Given the description of an element on the screen output the (x, y) to click on. 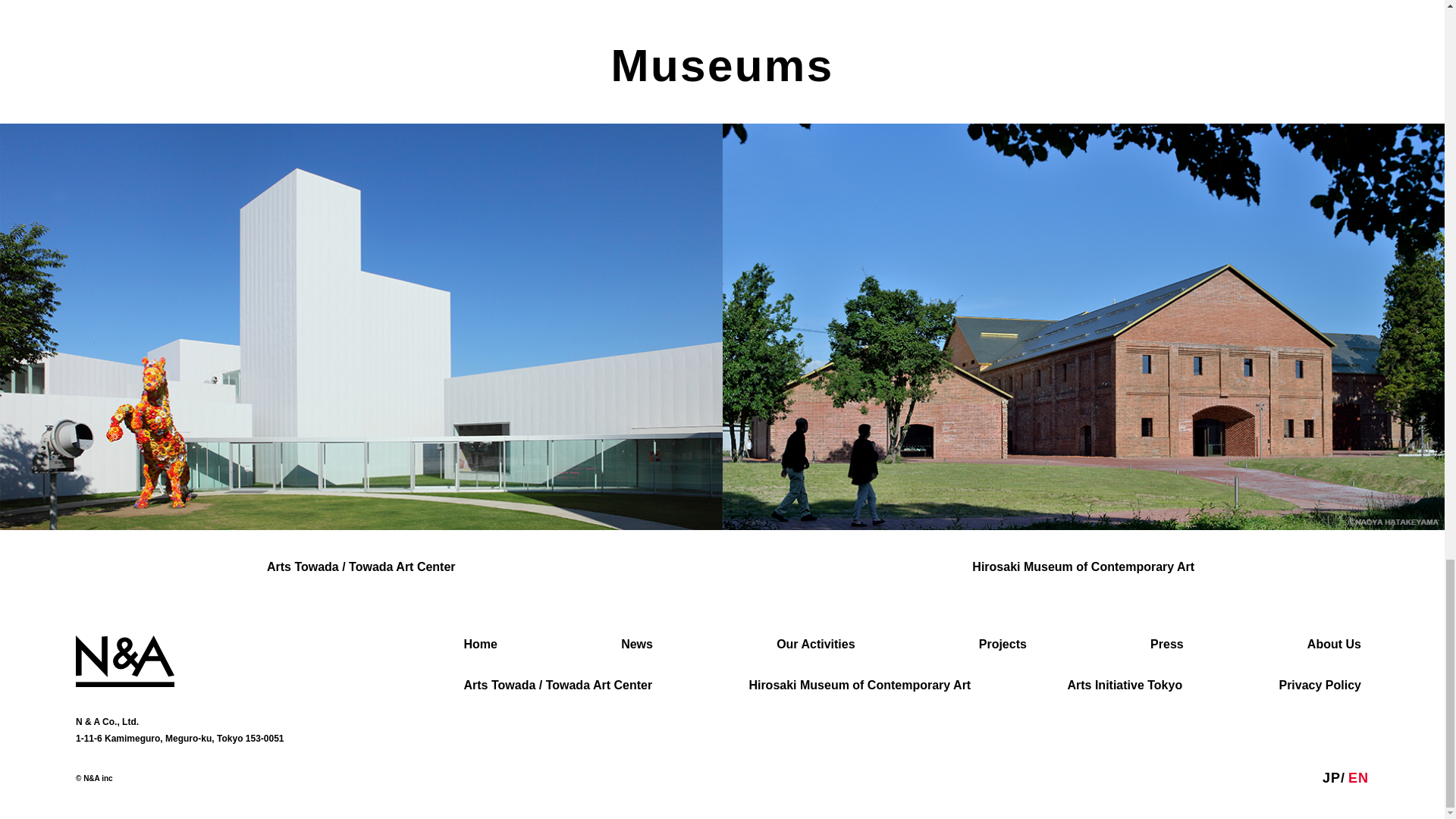
Japanese (1331, 777)
English (1358, 777)
